Given the description of an element on the screen output the (x, y) to click on. 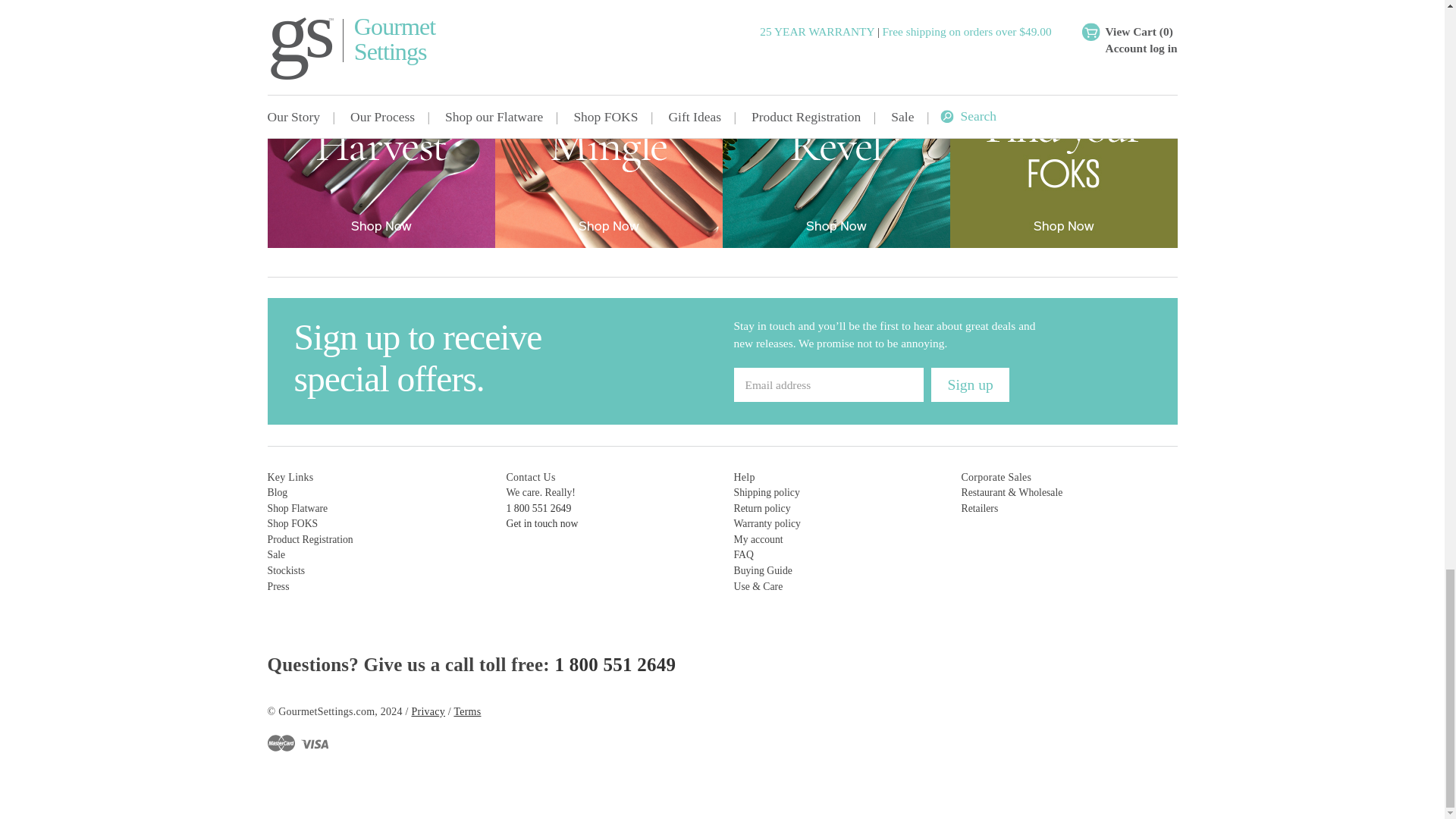
Sign up (970, 384)
